Given the description of an element on the screen output the (x, y) to click on. 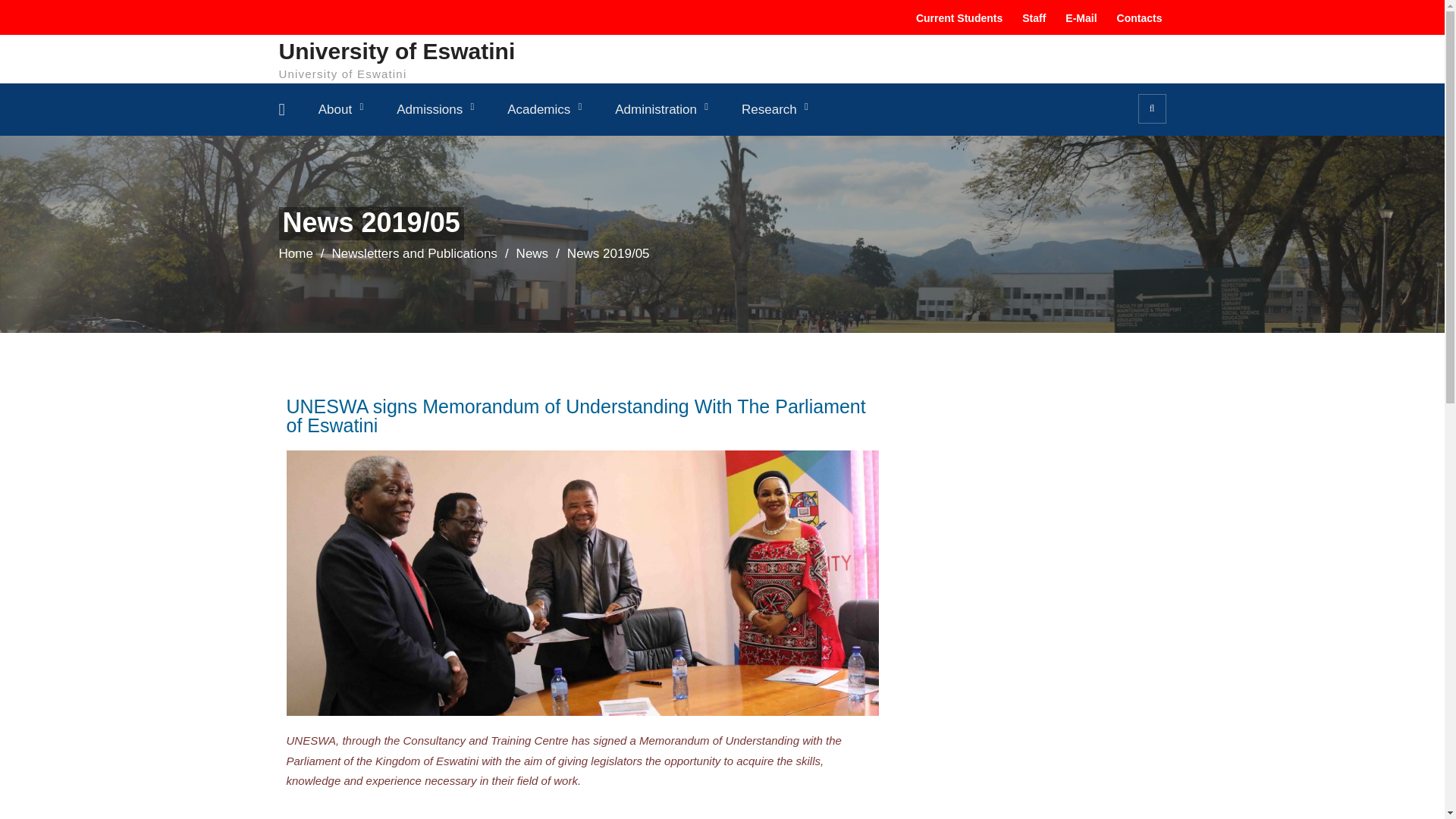
Current Students (956, 18)
Vision And Mission (386, 150)
Staff (1031, 18)
University of Eswatini (397, 50)
Contacts (1137, 18)
About (340, 109)
E-Mail (1078, 18)
